Given the description of an element on the screen output the (x, y) to click on. 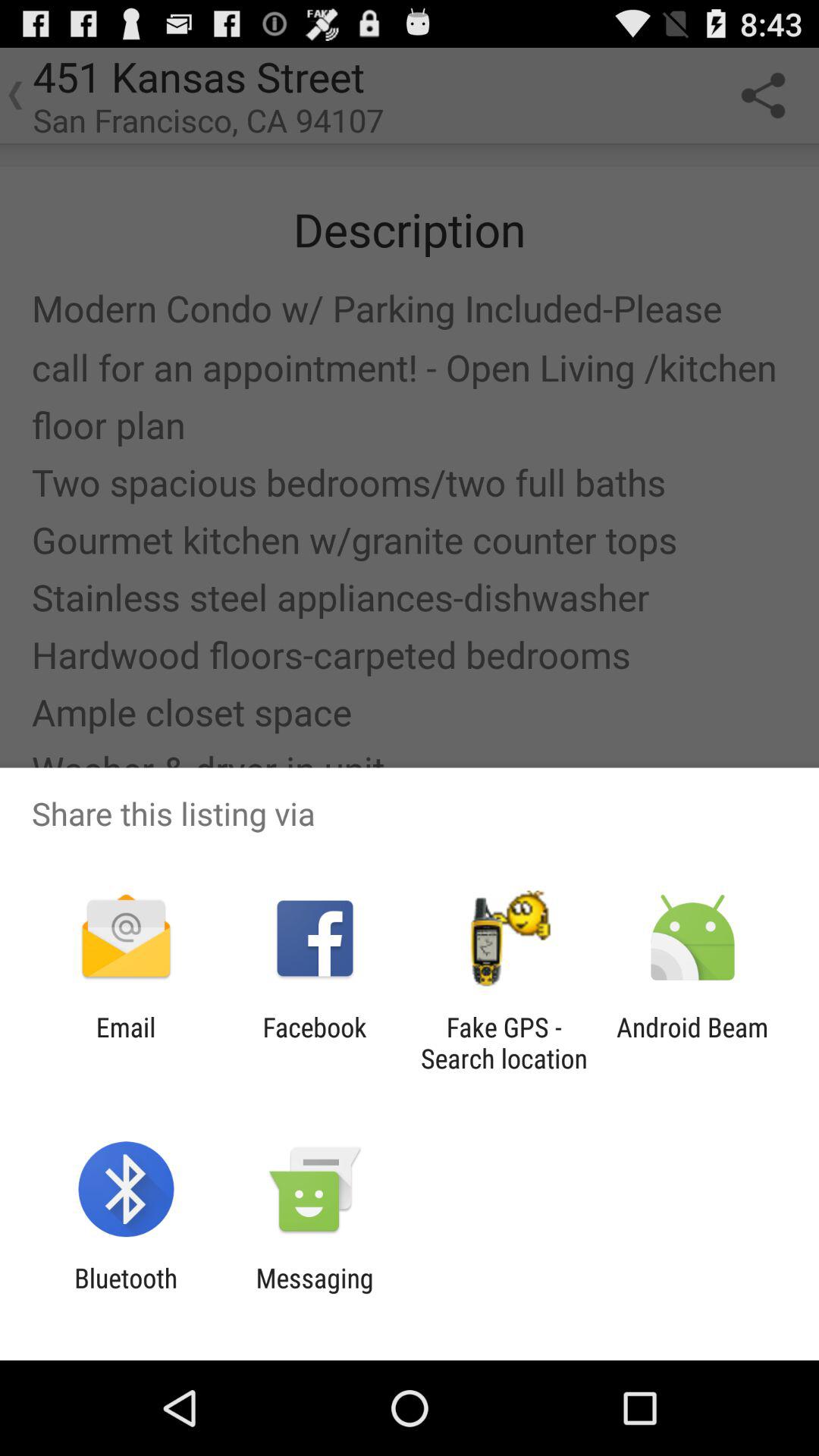
swipe to email item (125, 1042)
